Given the description of an element on the screen output the (x, y) to click on. 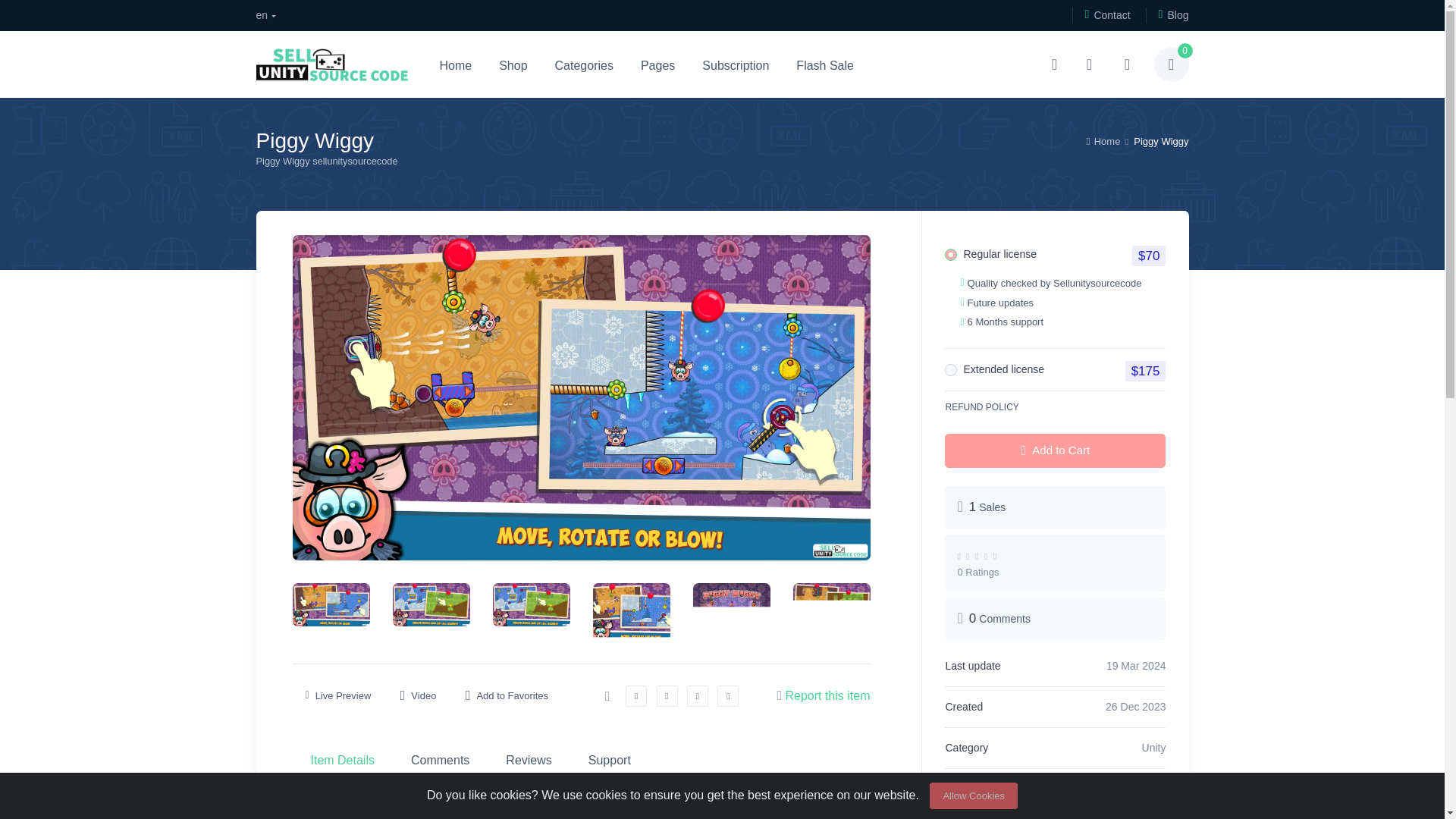
Blog (1167, 15)
en (266, 15)
Home (456, 64)
Home (1103, 141)
Contact (1101, 15)
0 (1171, 63)
Shop (512, 64)
Categories (584, 64)
Pages (657, 64)
Flash Sale (825, 64)
